Given the description of an element on the screen output the (x, y) to click on. 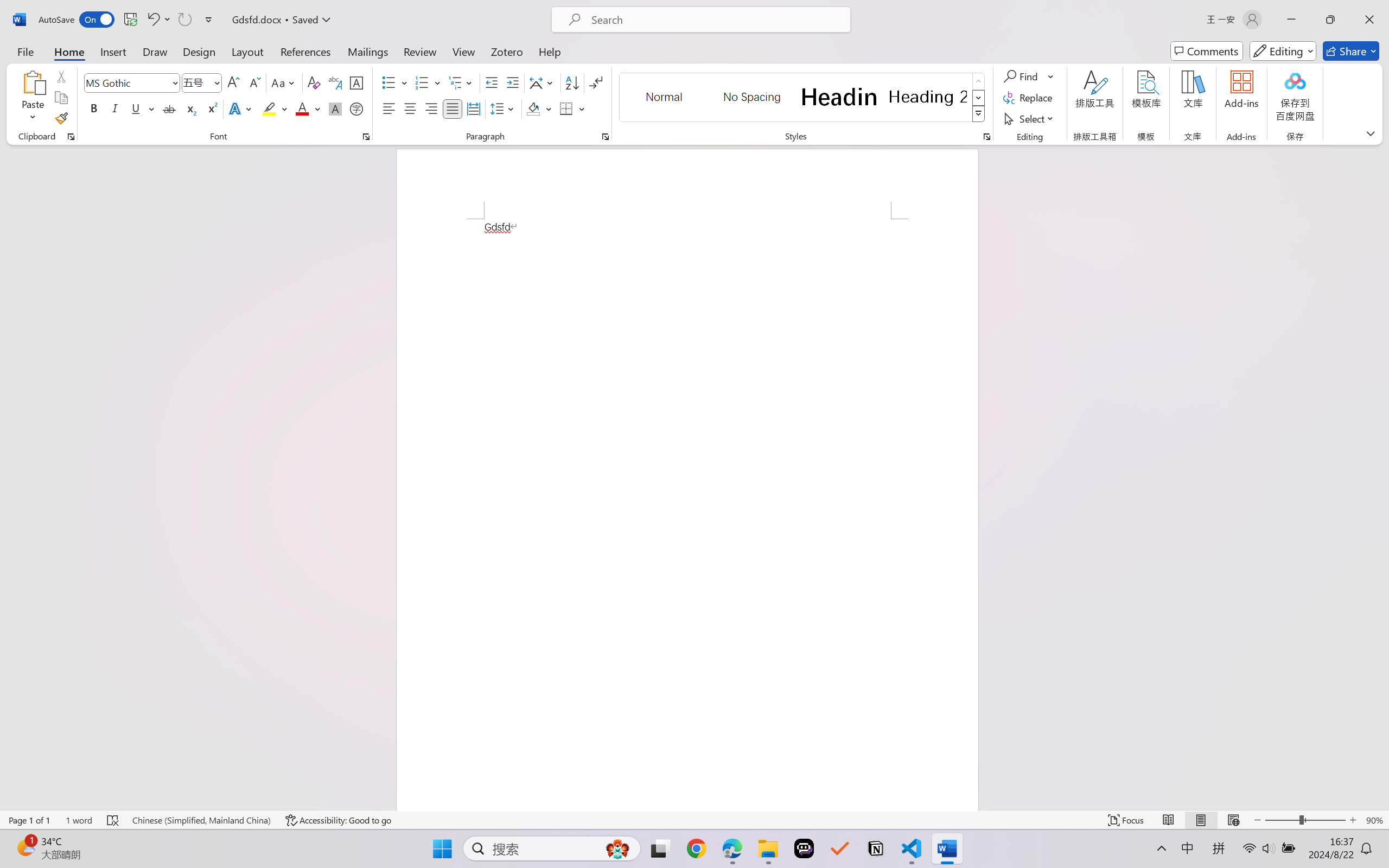
Character Border (356, 82)
Select (1030, 118)
Shading (539, 108)
Styles... (986, 136)
Text Highlight Color (274, 108)
